Given the description of an element on the screen output the (x, y) to click on. 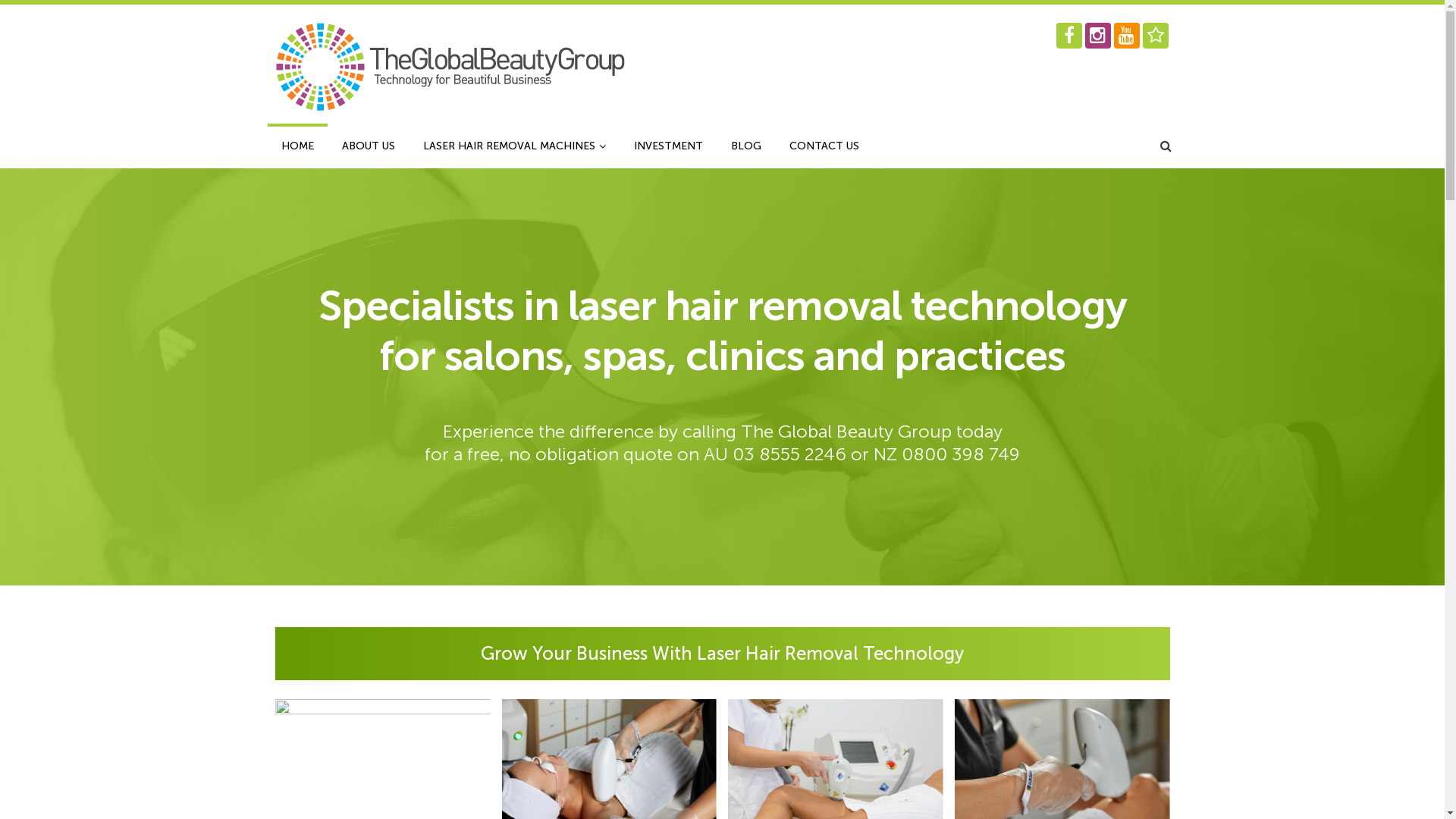
LASER HAIR REMOVAL MACHINES Element type: text (514, 145)
BLOG Element type: text (746, 145)
YouTube Element type: hover (1126, 35)
ABOUT US Element type: text (367, 145)
Instagram Element type: hover (1097, 35)
INVESTMENT Element type: text (668, 145)
Facebook Element type: hover (1068, 35)
HOME Element type: text (296, 145)
CONTACT US Element type: text (823, 145)
